Given the description of an element on the screen output the (x, y) to click on. 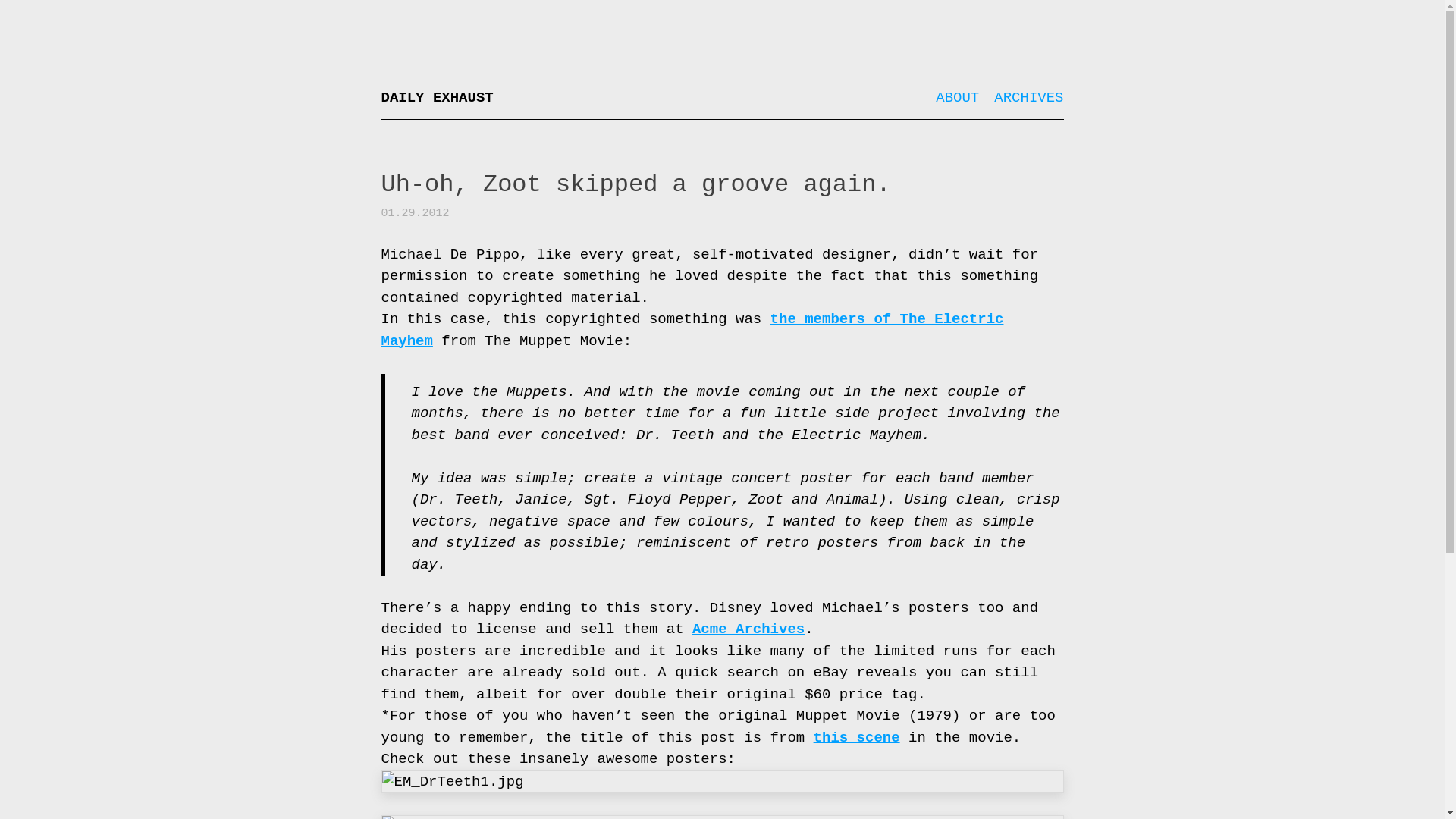
DAILY EXHAUST (436, 97)
ABOUT (957, 97)
Daily Exhaust (436, 97)
Acme Archives (749, 629)
the members of The Electric Mayhem (691, 330)
ARCHIVES (1028, 97)
this scene (856, 737)
